Given the description of an element on the screen output the (x, y) to click on. 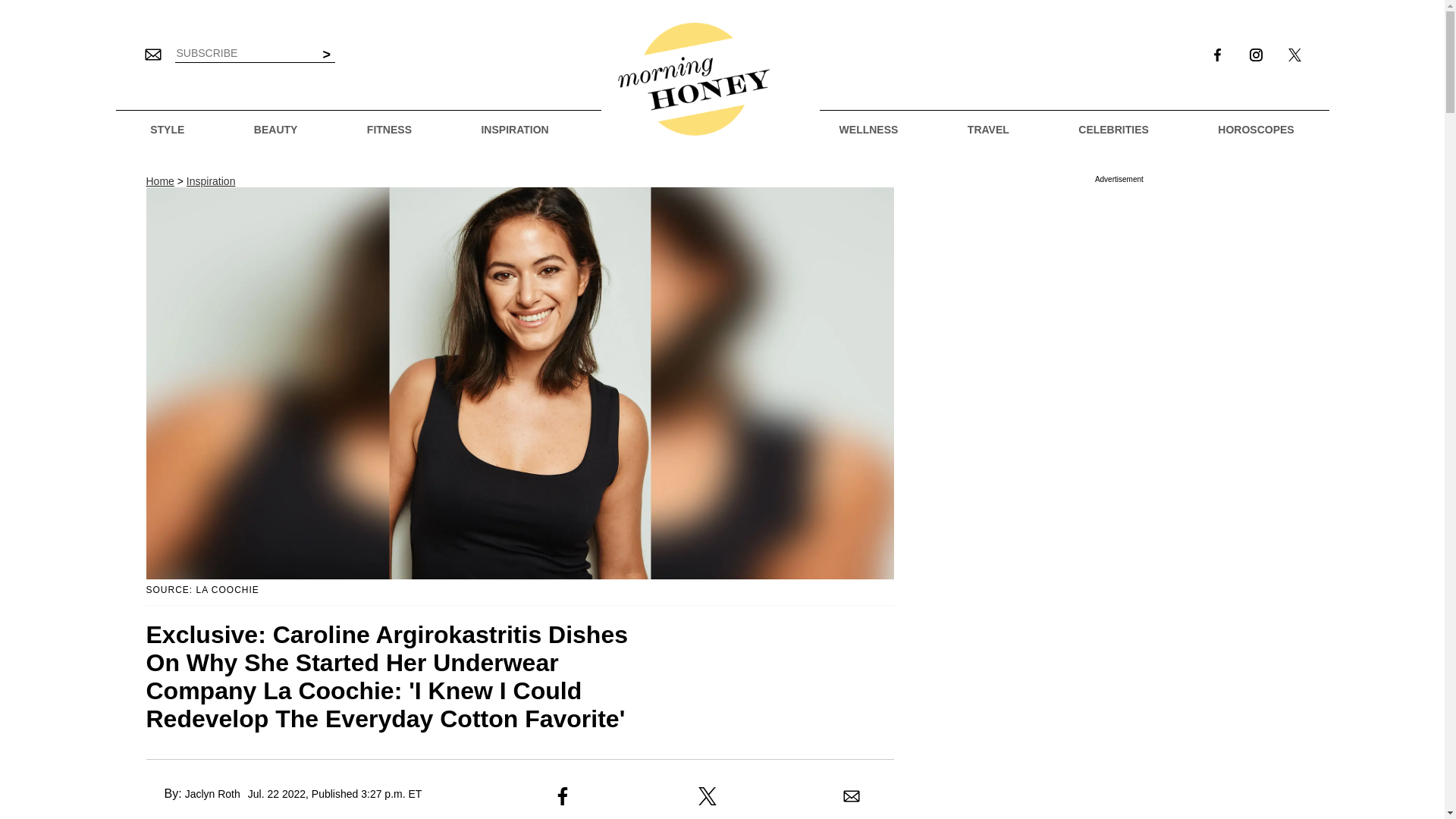
WELLNESS (869, 129)
LINK TO X (1294, 55)
LINK TO INSTAGRAM (1255, 55)
LINK TO FACEBOOK (1216, 54)
Share to Facebook (562, 796)
Jaclyn Roth (212, 793)
Home (159, 181)
Inspiration (210, 181)
HOROSCOPES (1255, 129)
CELEBRITIES (1113, 129)
